Given the description of an element on the screen output the (x, y) to click on. 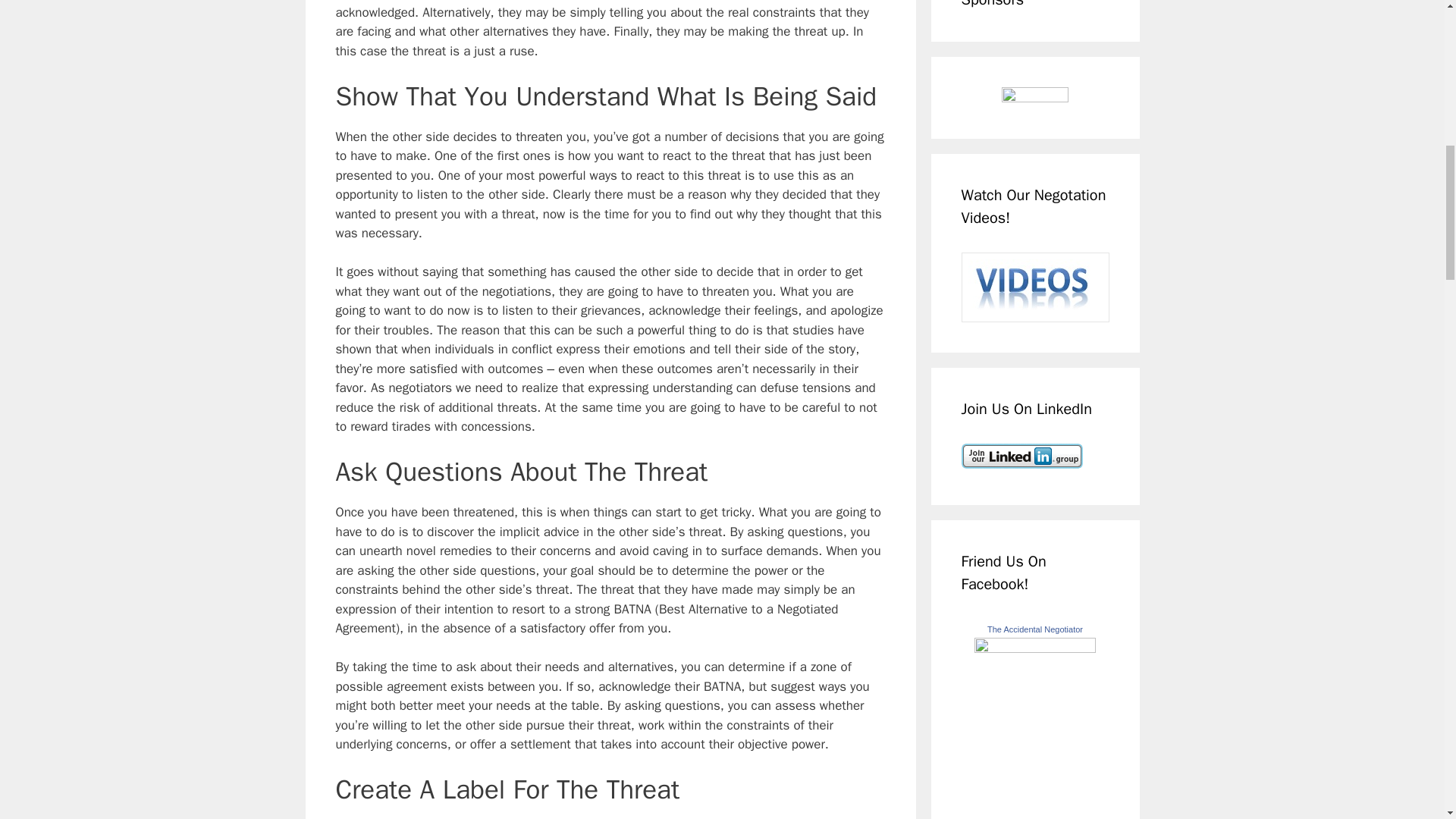
The Accidental Negotiator (1035, 628)
The Accidental Negotiator (1035, 648)
